Given the description of an element on the screen output the (x, y) to click on. 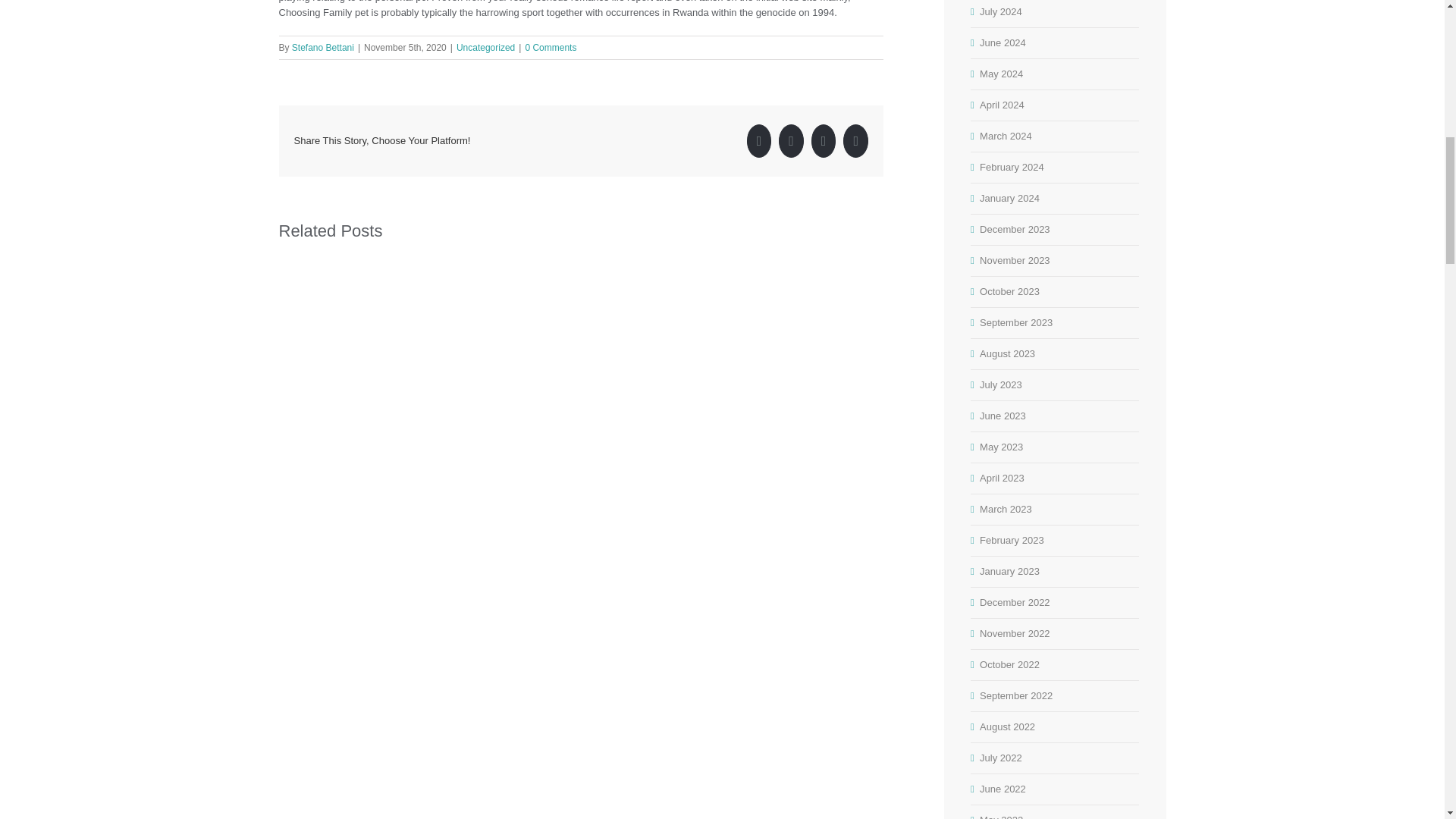
Posts by Stefano Bettani (322, 47)
Stefano Bettani (322, 47)
May 2024 (1001, 73)
June 2024 (1002, 42)
April 2024 (1002, 104)
July 2024 (1000, 11)
0 Comments (550, 47)
Uncategorized (486, 47)
